Given the description of an element on the screen output the (x, y) to click on. 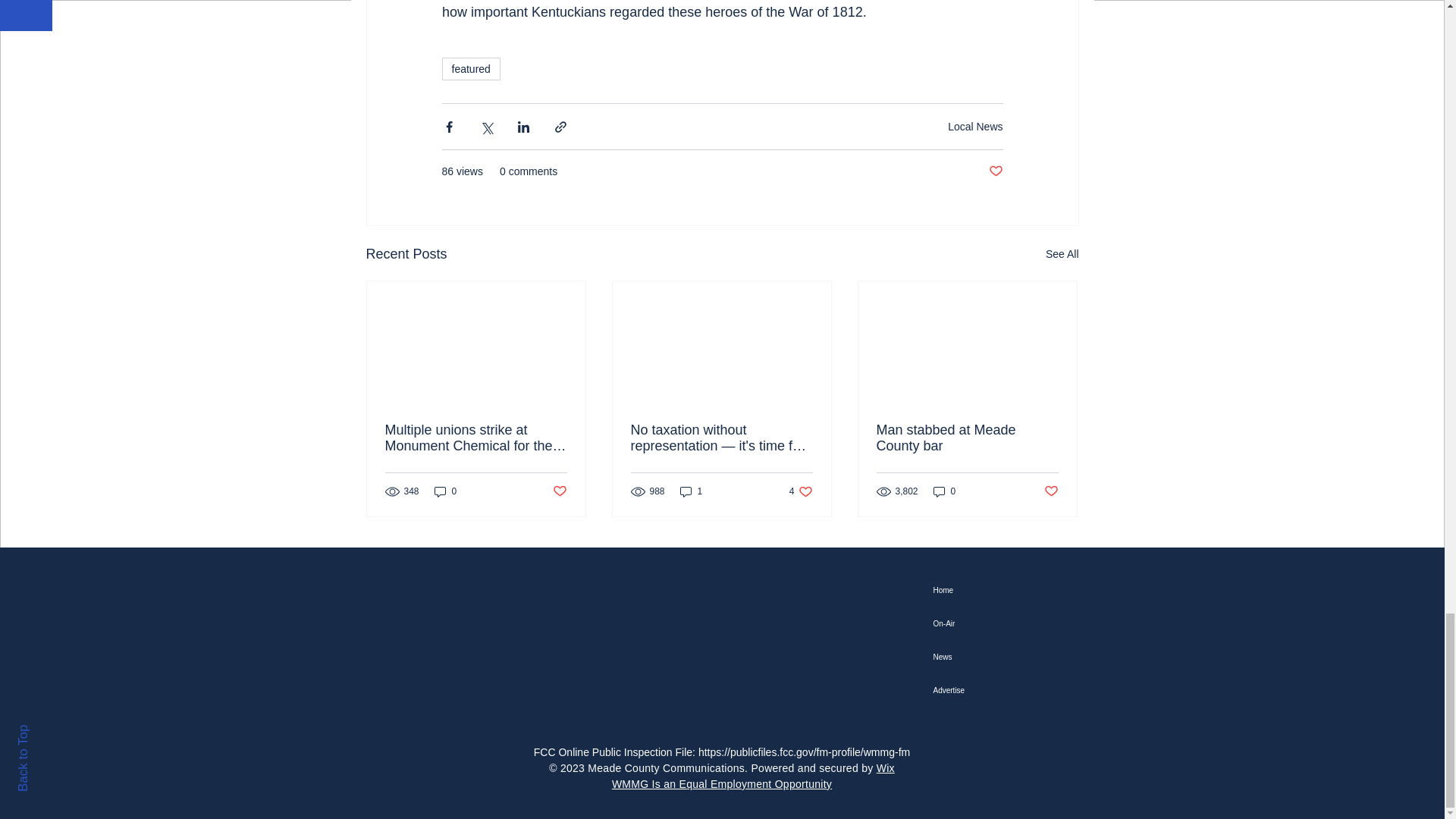
Local News (975, 125)
Man stabbed at Meade County bar (967, 438)
featured (470, 68)
Post not marked as liked (558, 491)
1 (691, 490)
Post not marked as liked (1050, 491)
See All (1061, 254)
0 (944, 490)
0 (445, 490)
Post not marked as liked (800, 490)
